Given the description of an element on the screen output the (x, y) to click on. 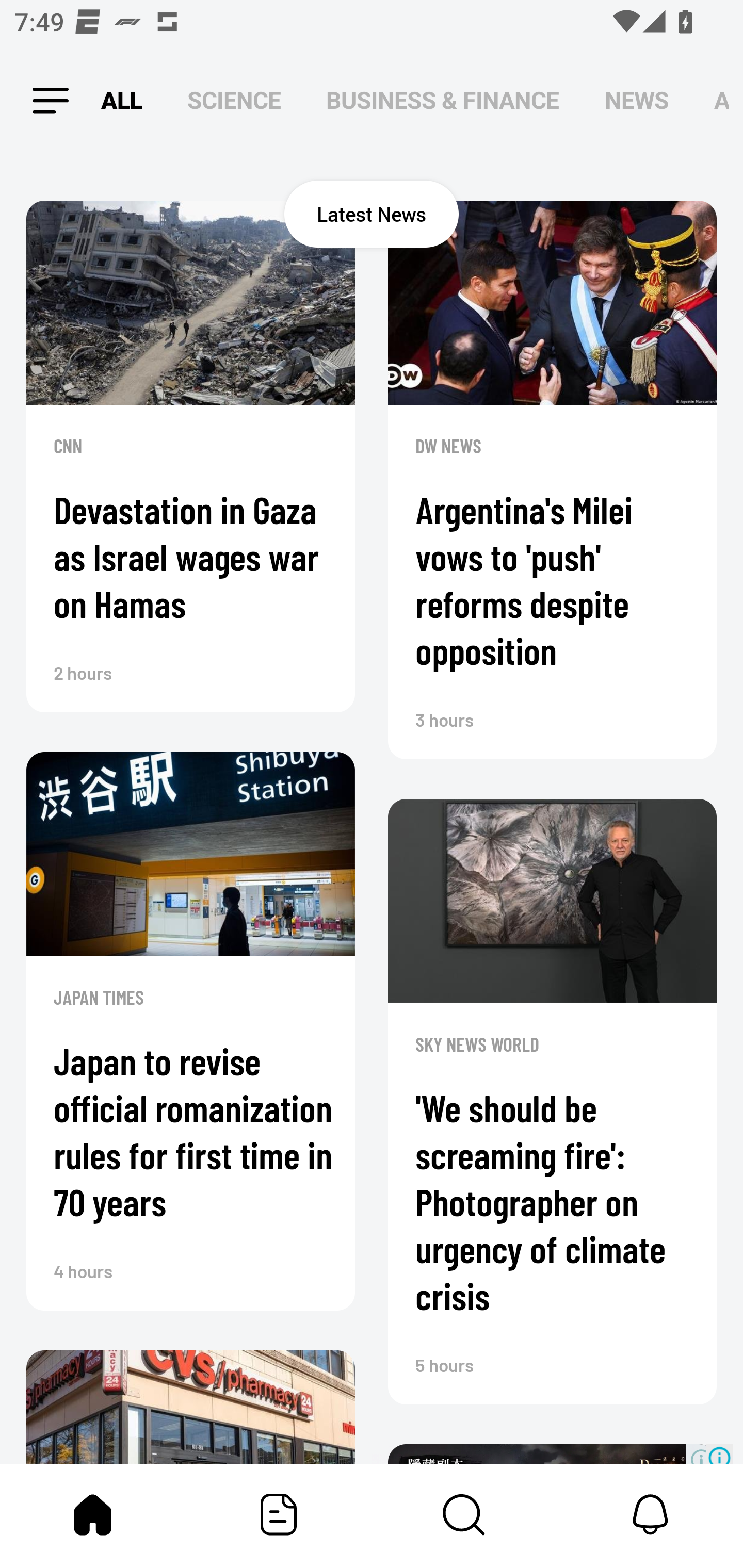
Leading Icon (42, 101)
SCIENCE (233, 100)
BUSINESS & FINANCE (442, 100)
NEWS (636, 100)
Latest News (371, 213)
Featured (278, 1514)
Content Store (464, 1514)
Notifications (650, 1514)
